Given the description of an element on the screen output the (x, y) to click on. 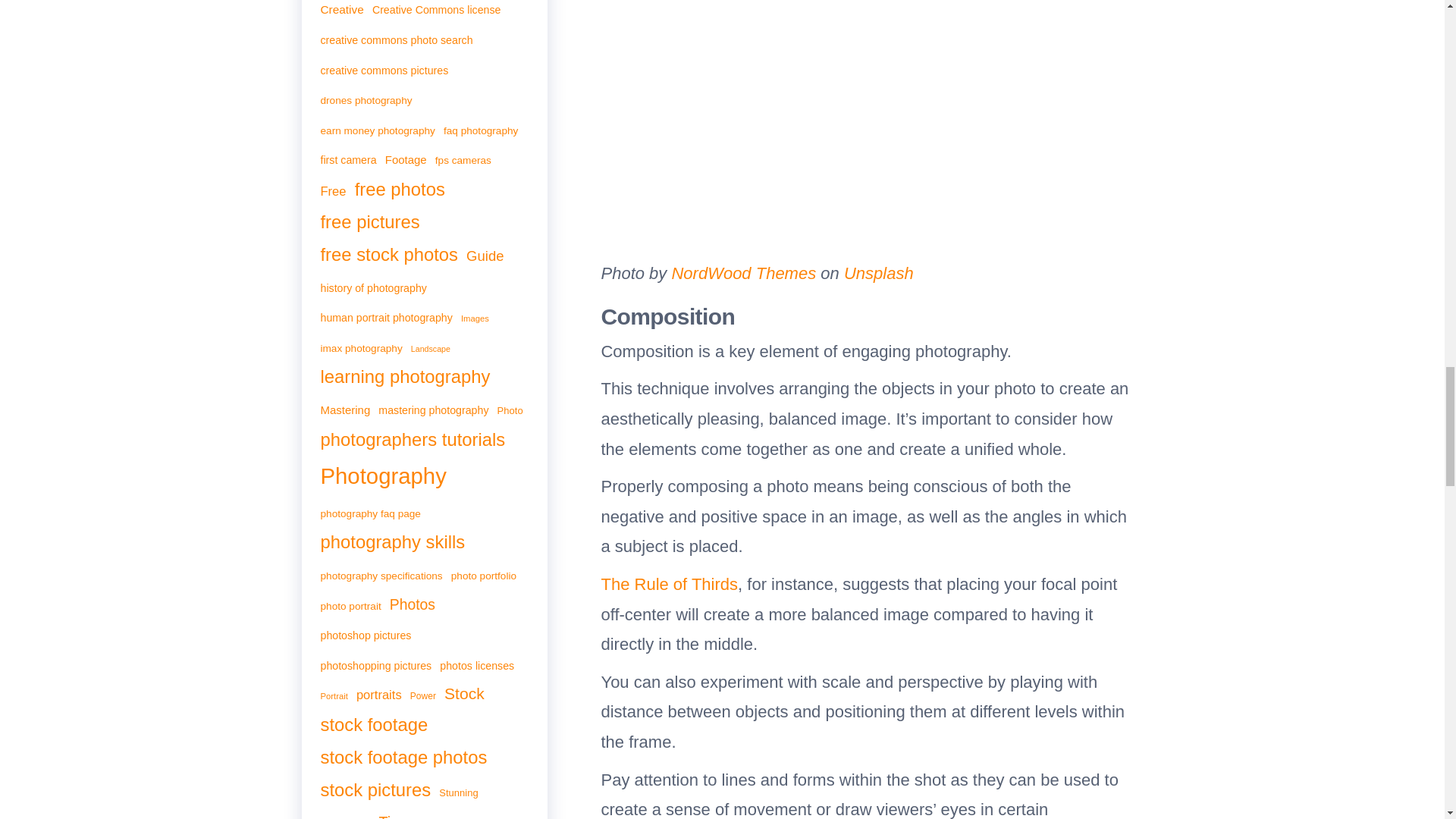
NordWood Themes (740, 272)
The Rule of Thirds (668, 583)
Unsplash (877, 272)
